Given the description of an element on the screen output the (x, y) to click on. 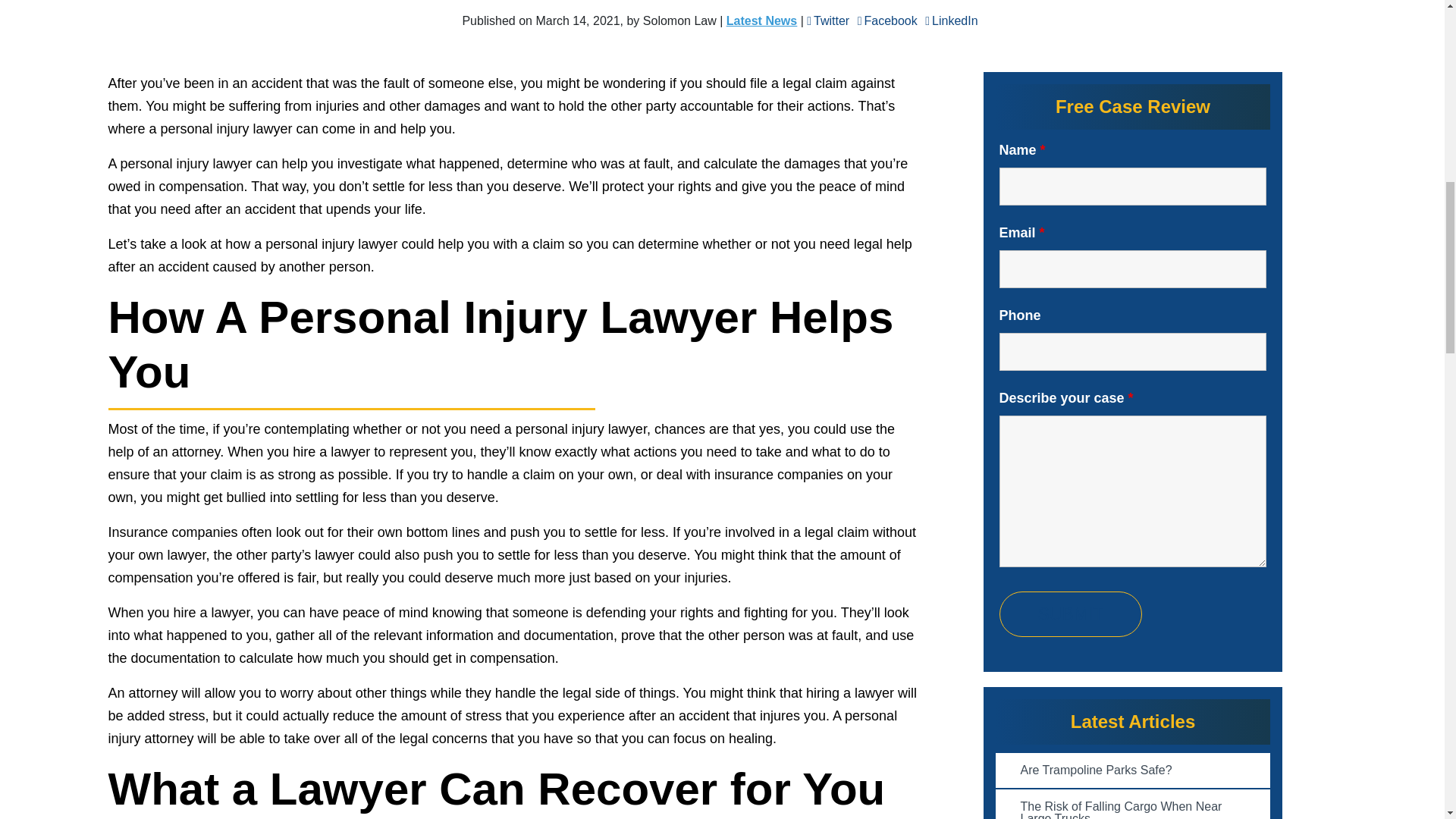
Are Trampoline Parks Safe? (1131, 769)
Facebook (887, 21)
Submit (1070, 614)
Latest News (761, 20)
Submit (1070, 614)
The Risk of Falling Cargo When Near Large Trucks (1131, 804)
LinkedIn (950, 21)
Twitter (827, 21)
